Given the description of an element on the screen output the (x, y) to click on. 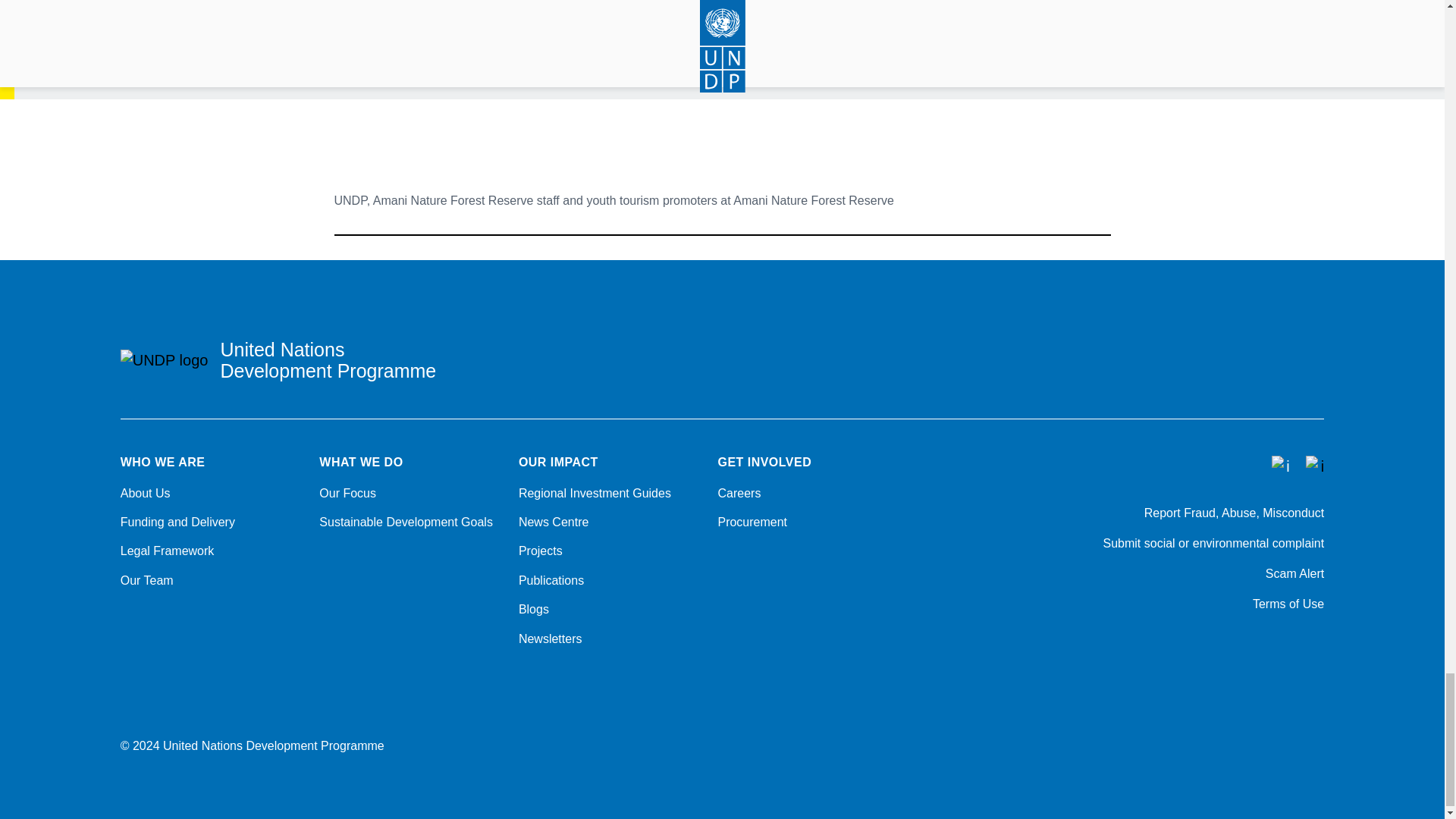
Facebook (1198, 645)
News Centre (609, 522)
Legal Framework (210, 550)
Regional Investment Guides (609, 493)
Newsletters (609, 638)
WHO WE ARE (210, 462)
Instagram (1276, 645)
Our Focus (409, 493)
LinkedIn (1315, 645)
About Us (210, 493)
WHAT WE DO (409, 462)
Our Team (210, 580)
Twitter (1237, 645)
Publications (609, 580)
